Given the description of an element on the screen output the (x, y) to click on. 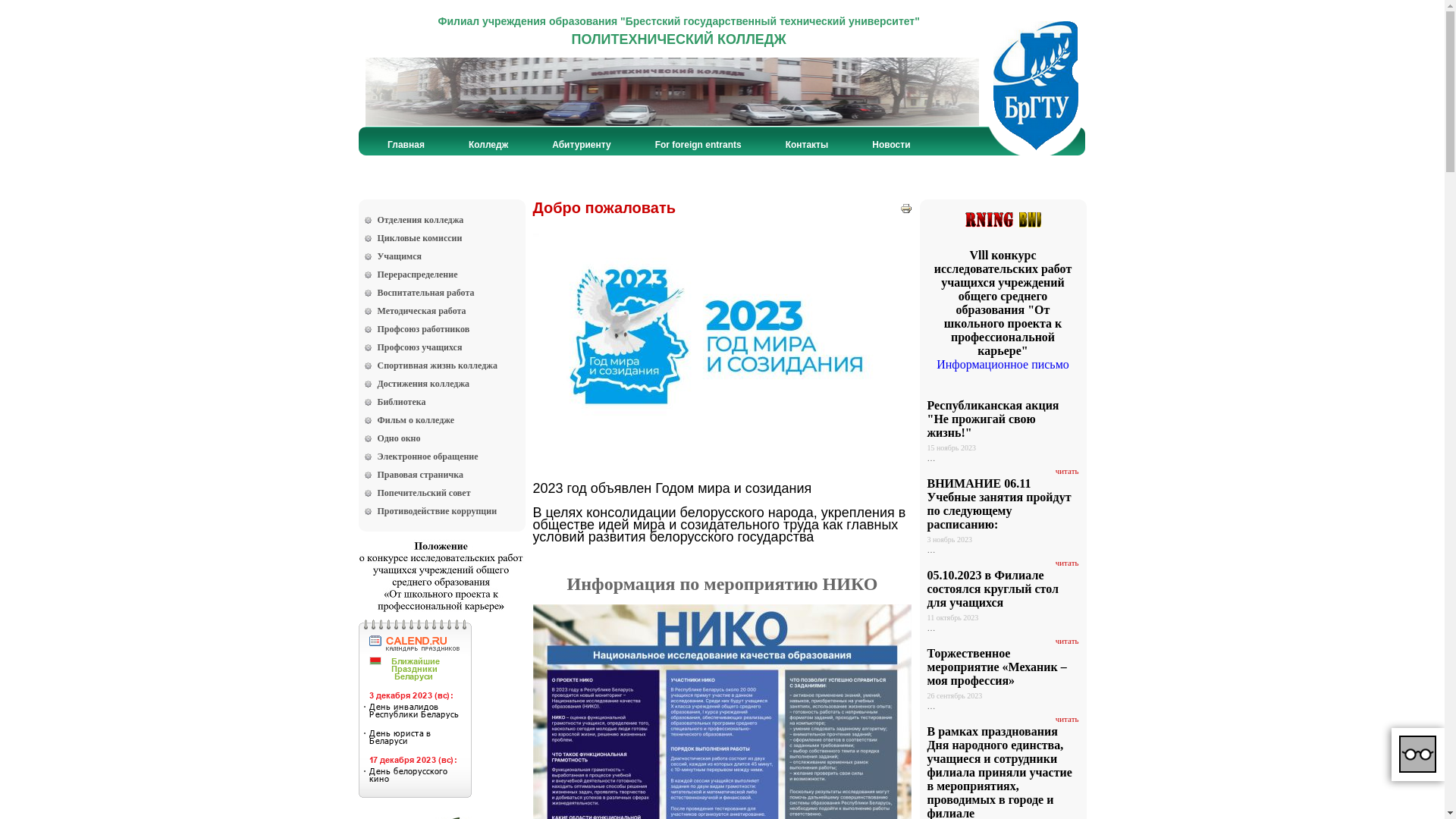
For foreign entrants Element type: text (698, 144)
